Given the description of an element on the screen output the (x, y) to click on. 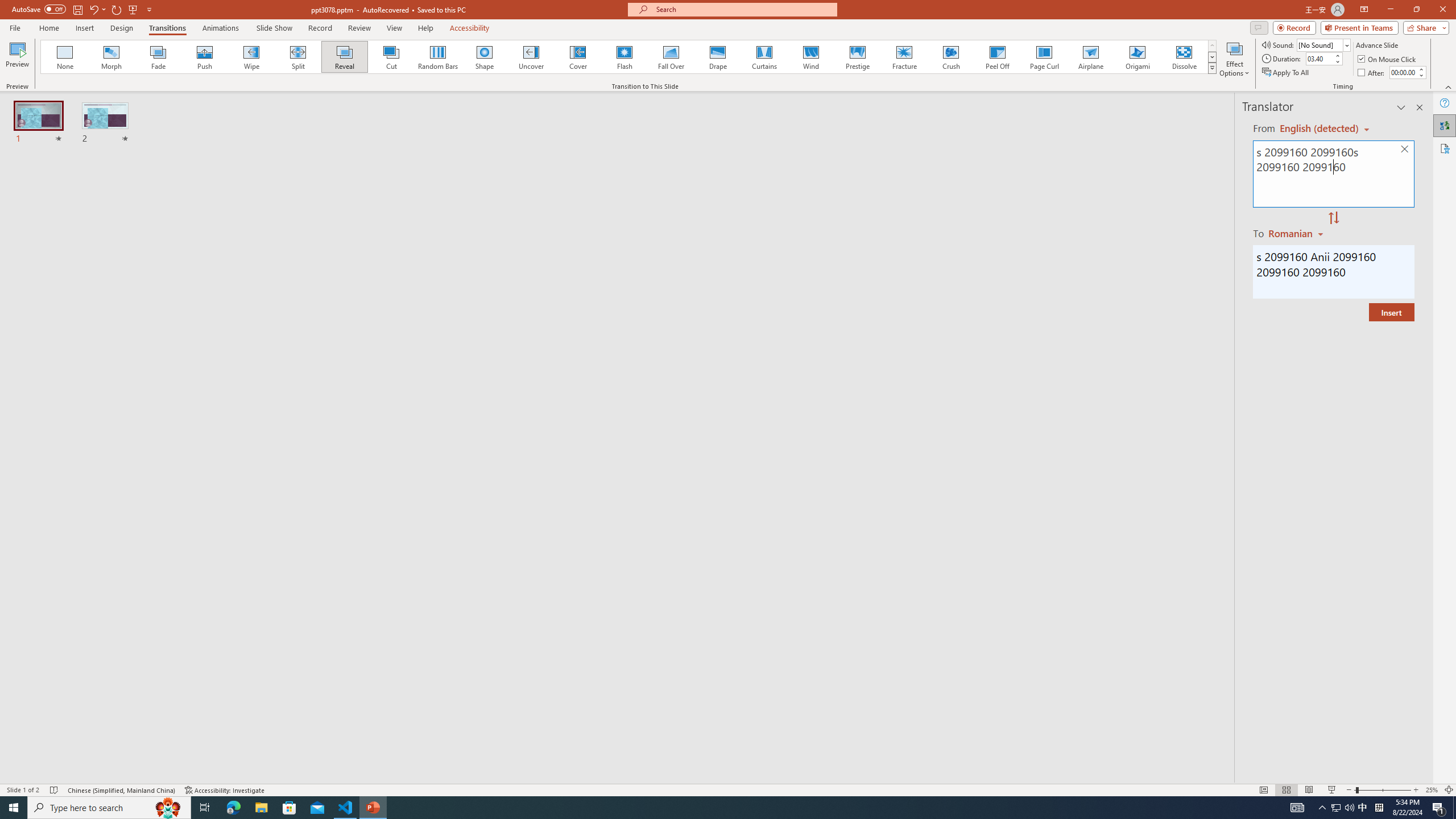
Reveal (344, 56)
Czech (detected) (1319, 128)
Shape (484, 56)
